Given the description of an element on the screen output the (x, y) to click on. 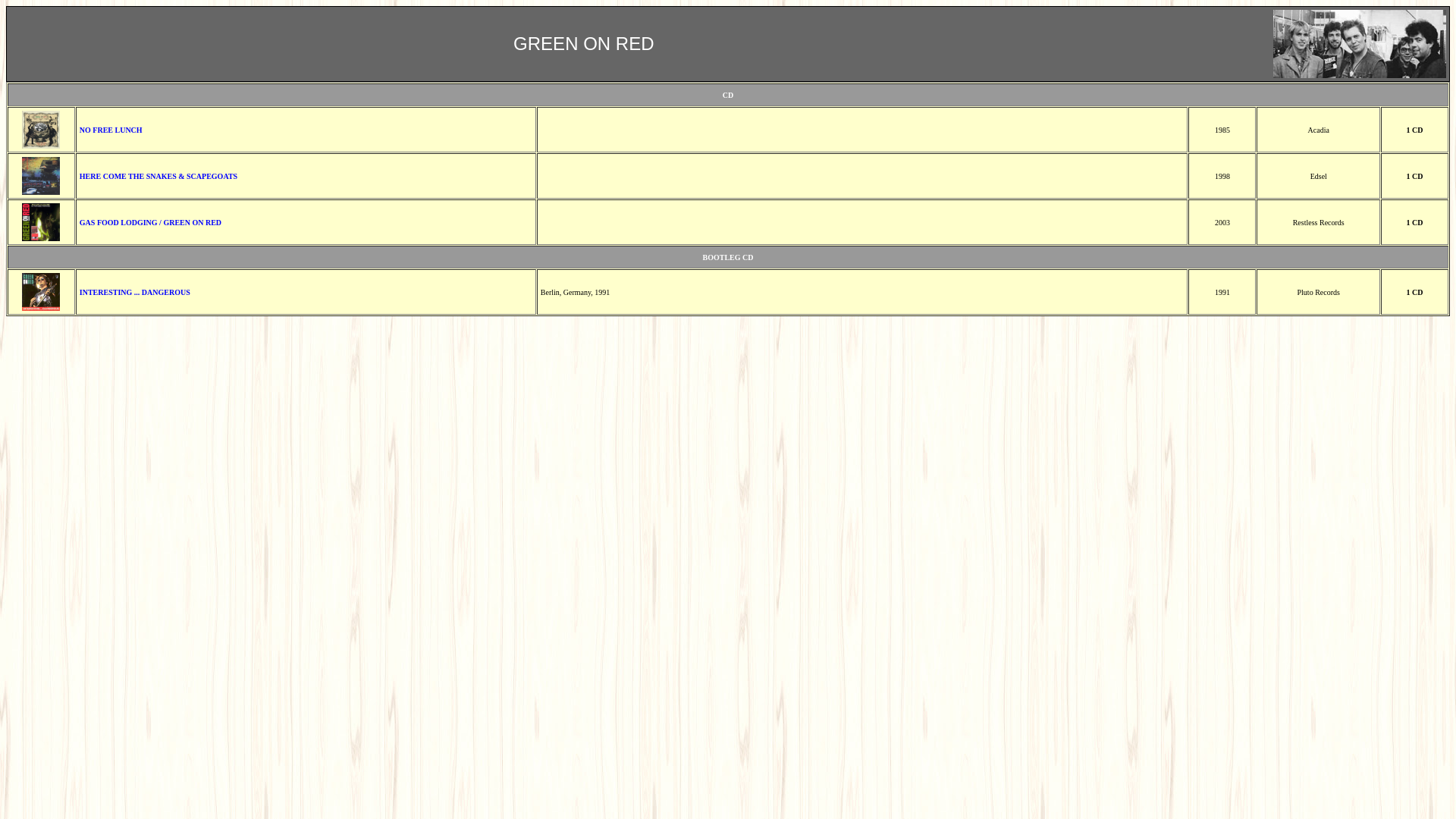
HERE COME THE SNAKES & SCAPEGOATS Element type: text (158, 174)
INTERESTING ... DANGEROUS Element type: text (134, 292)
NO FREE LUNCH Element type: text (110, 127)
GAS FOOD LODGING / GREEN ON RED Element type: text (150, 219)
